Given the description of an element on the screen output the (x, y) to click on. 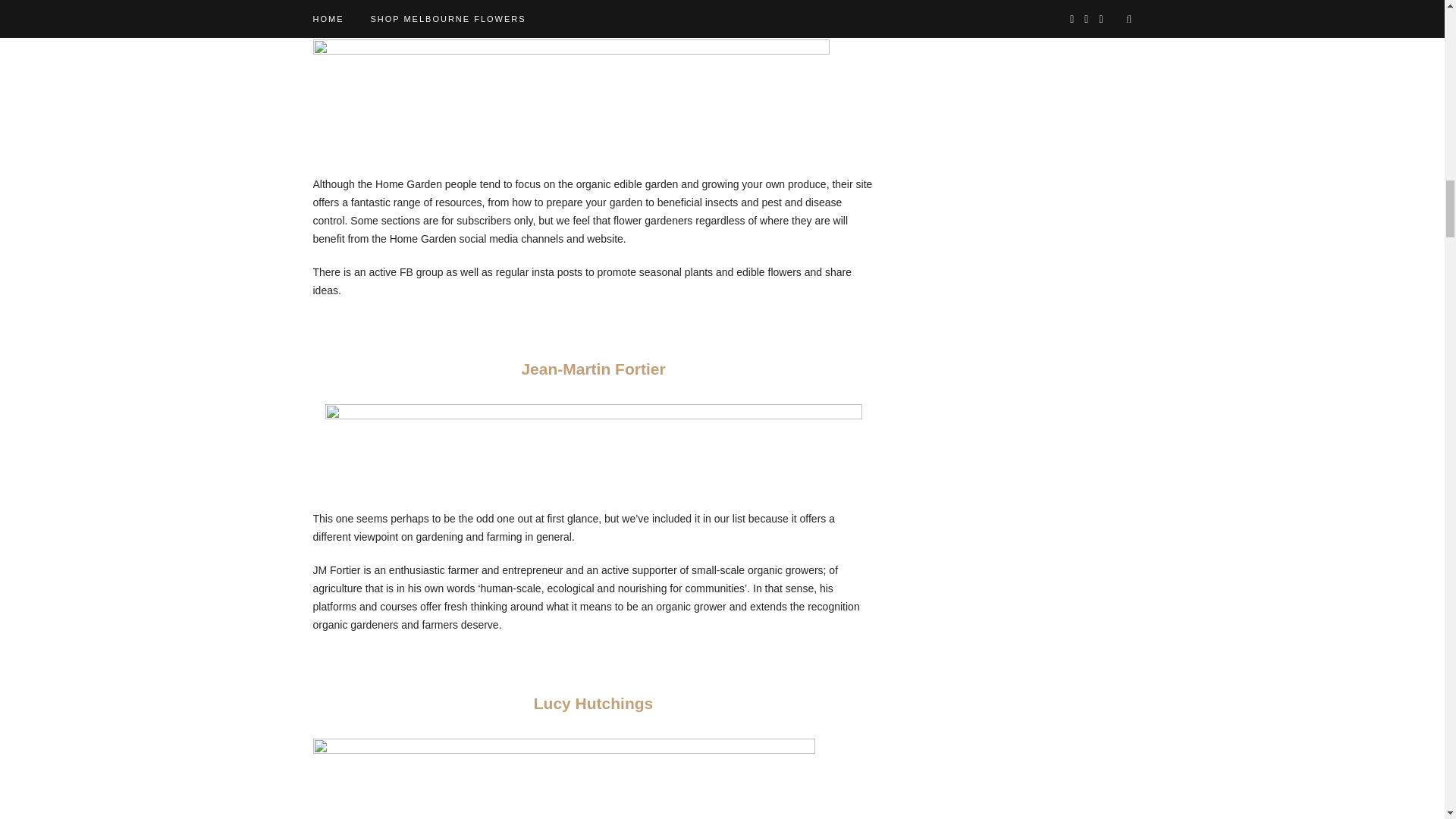
The Home Garden (593, 6)
Lucy Hutchings (593, 702)
Jean-Martin Fortier (593, 368)
